Given the description of an element on the screen output the (x, y) to click on. 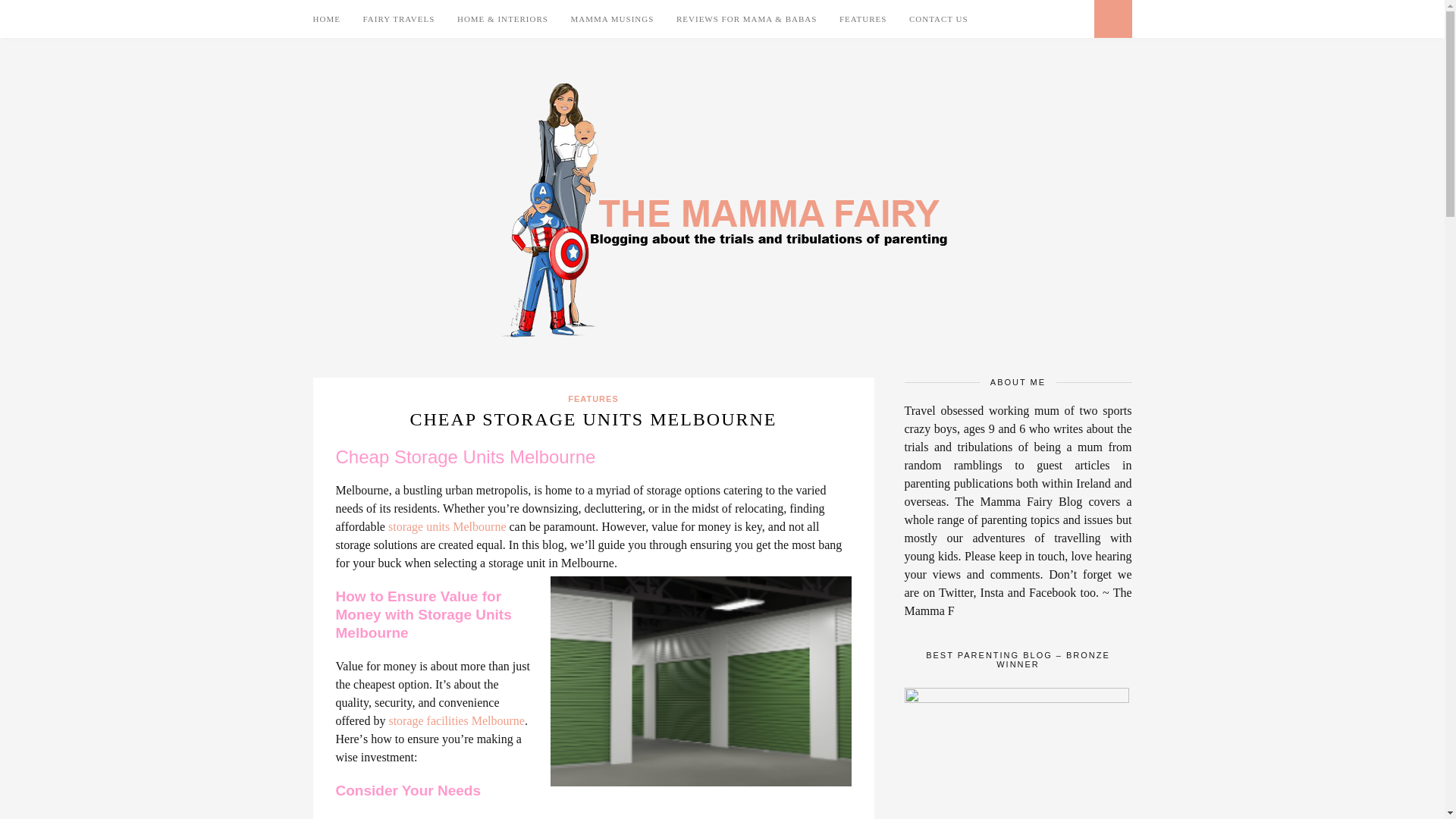
FEATURES (863, 18)
FAIRY TRAVELS (398, 18)
FEATURES (592, 398)
MAMMA MUSINGS (611, 18)
CONTACT US (938, 18)
